Given the description of an element on the screen output the (x, y) to click on. 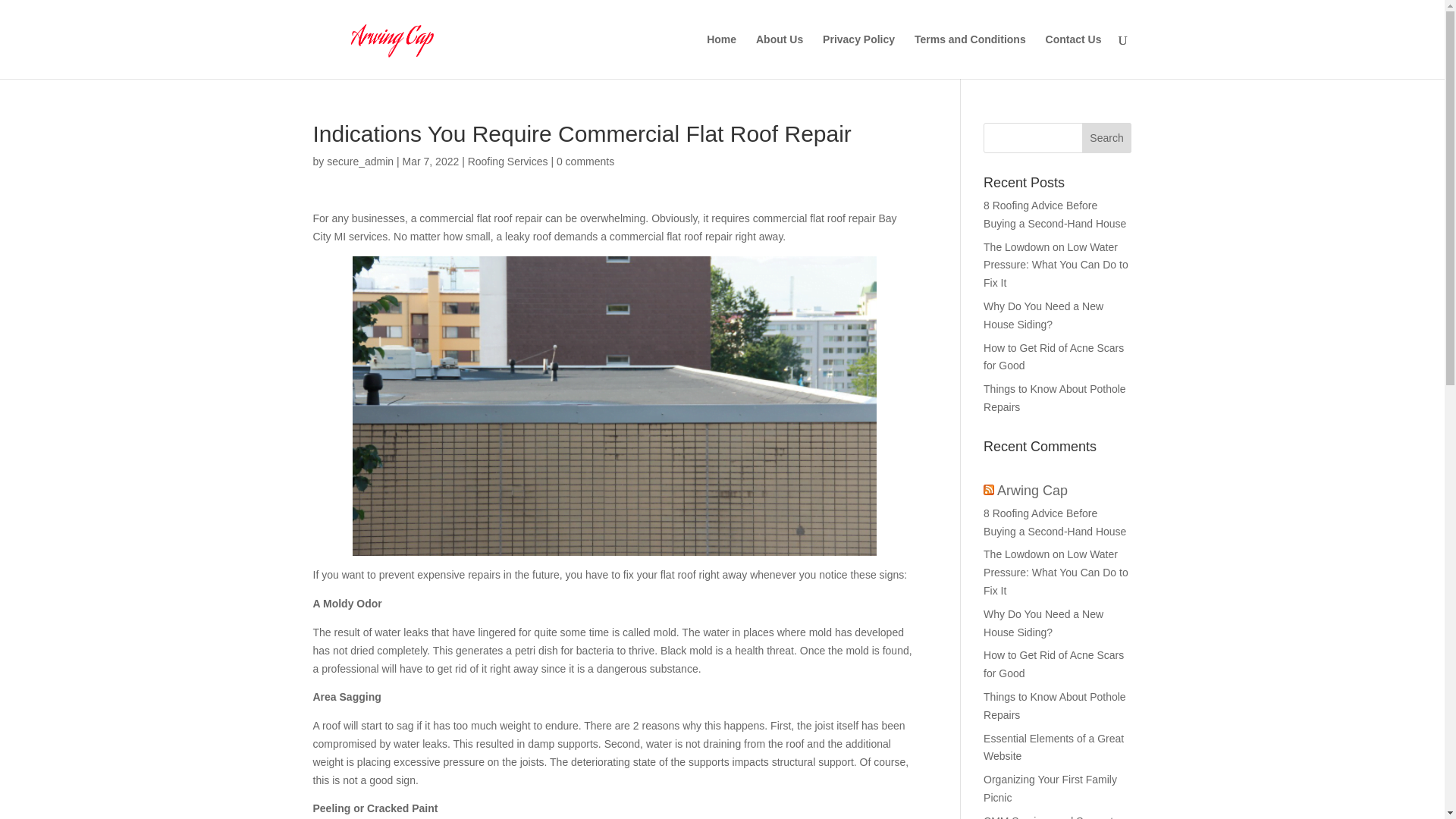
How to Get Rid of Acne Scars for Good (1054, 357)
0 comments (585, 161)
Roofing Services (507, 161)
Search (1106, 137)
Privacy Policy (858, 56)
Search (1106, 137)
Things to Know About Pothole Repairs  (1054, 706)
Home (721, 56)
Terms and Conditions (970, 56)
Arwing Cap (1032, 490)
Why Do You Need a New House Siding? (1043, 623)
Contact Us (1073, 56)
Why Do You Need a New House Siding? (1043, 315)
Organizing Your First Family Picnic (1050, 788)
